Given the description of an element on the screen output the (x, y) to click on. 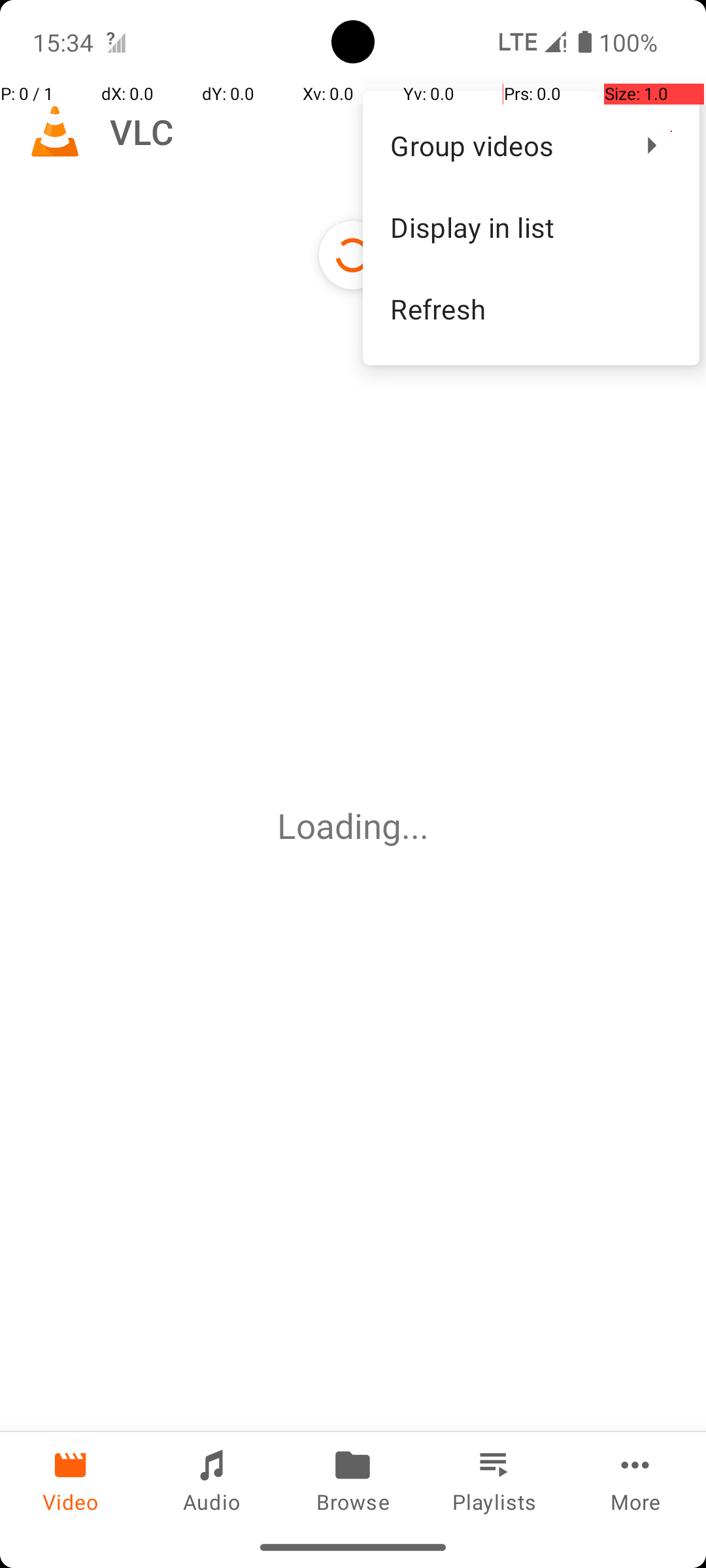
Group videos Element type: android.widget.TextView (503, 144)
Display in list Element type: android.widget.TextView (531, 226)
Refresh Element type: android.widget.TextView (531, 308)
